Given the description of an element on the screen output the (x, y) to click on. 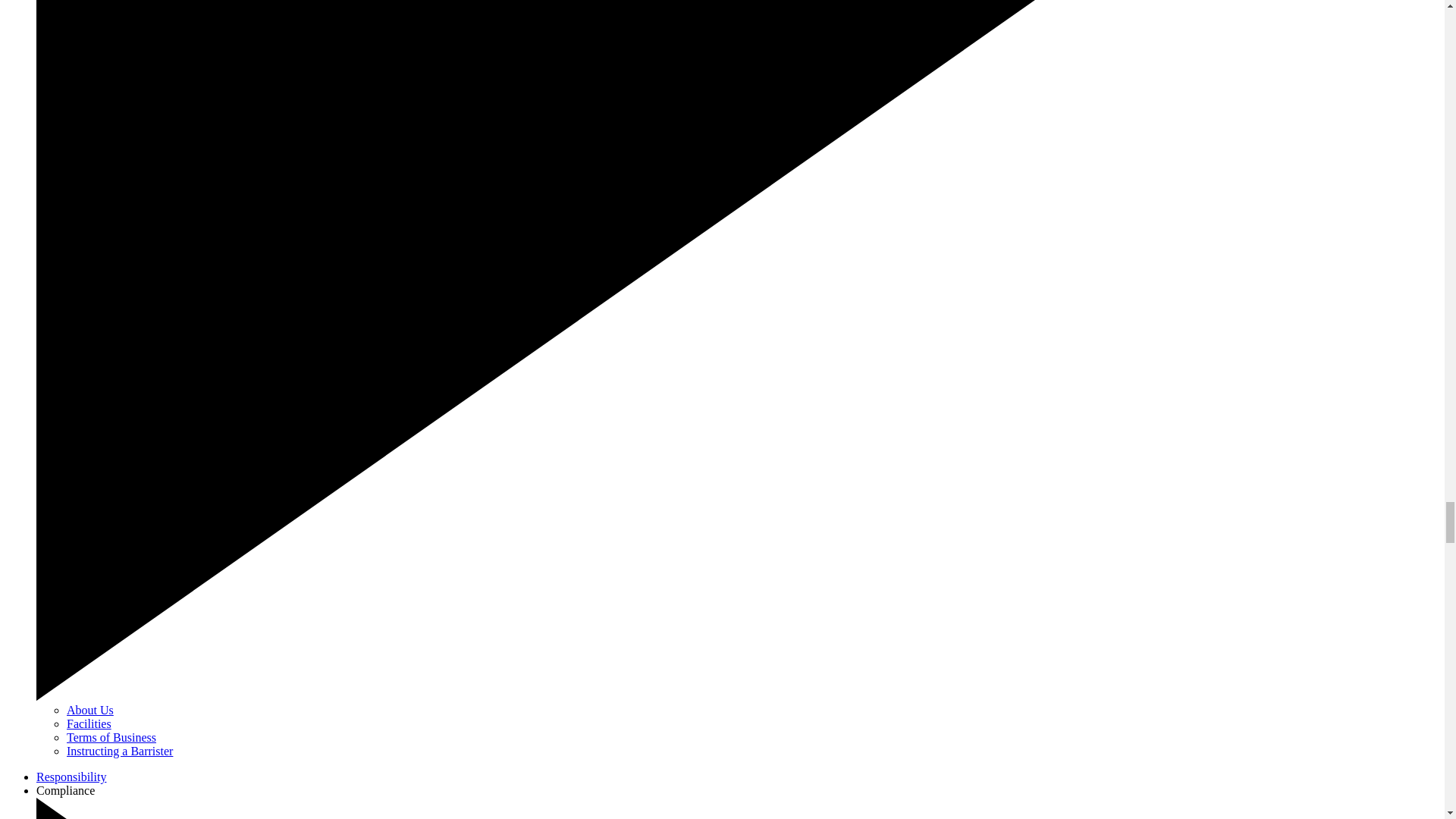
Facilities (89, 723)
About Us (89, 709)
Instructing a Barrister (119, 750)
Responsibility (71, 776)
Terms of Business (110, 737)
